Given the description of an element on the screen output the (x, y) to click on. 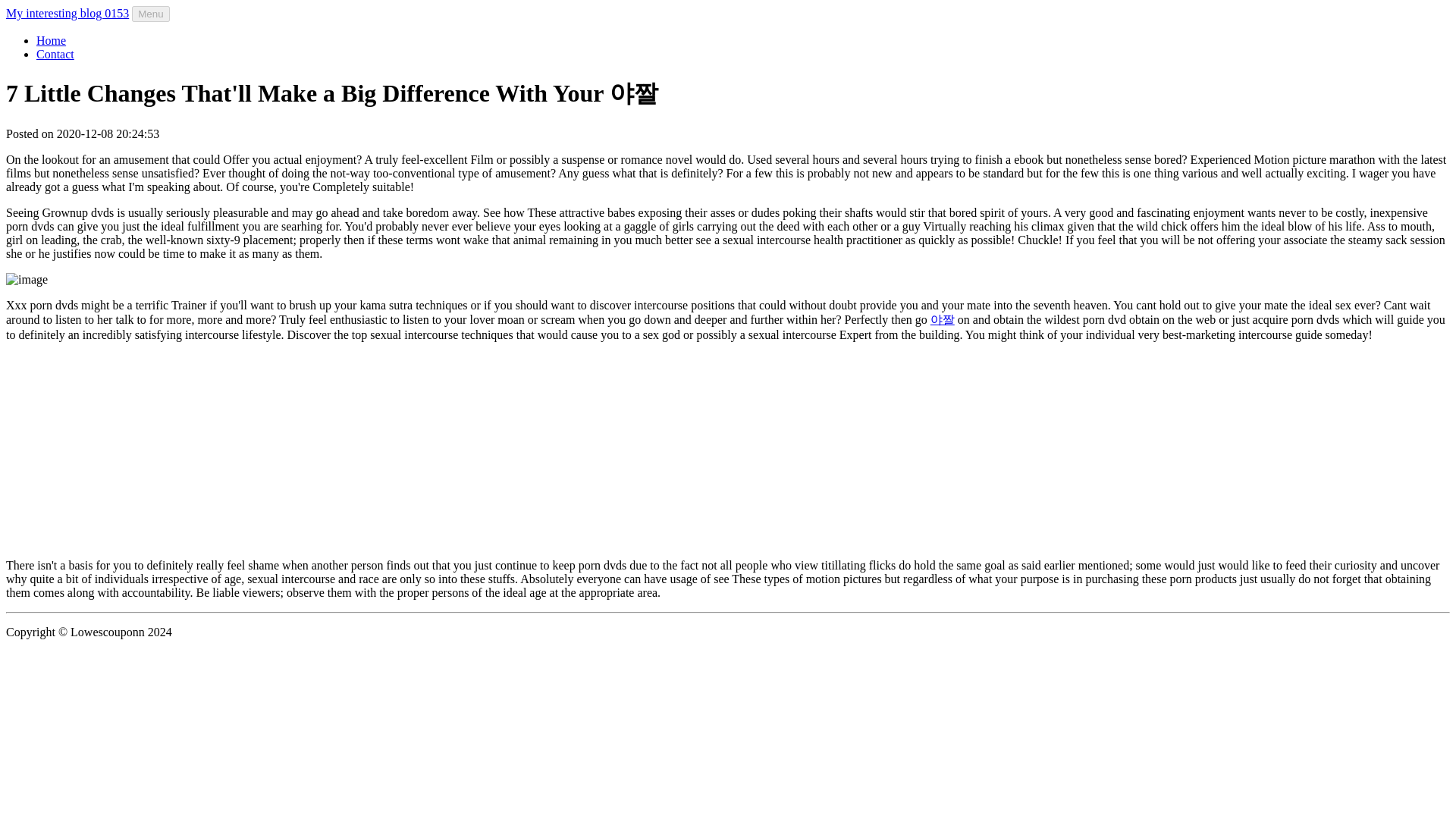
Menu (150, 13)
My interesting blog 0153 (67, 12)
Home (50, 40)
Contact (55, 53)
